Given the description of an element on the screen output the (x, y) to click on. 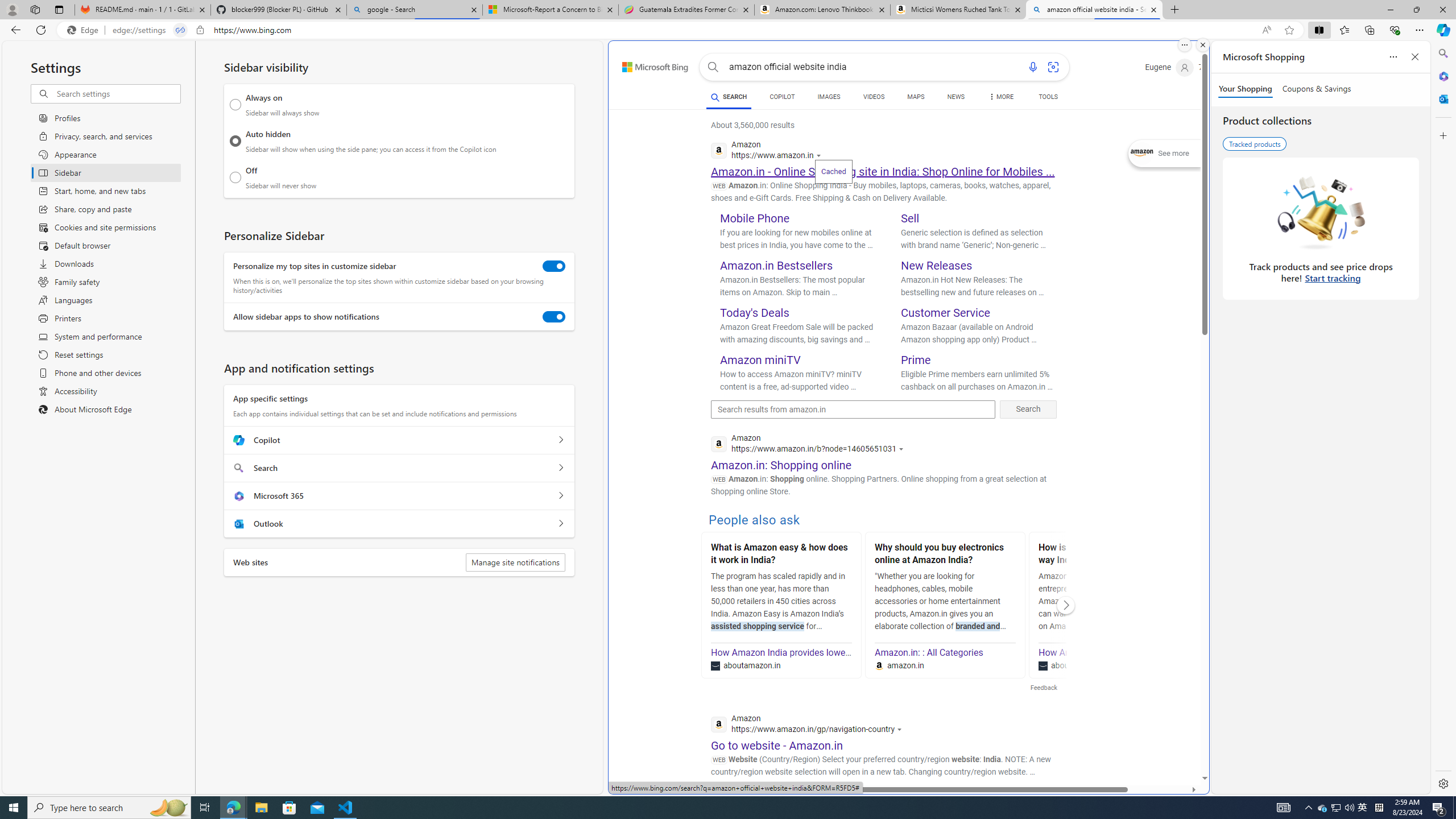
Amazon (830, 805)
Settings (1442, 783)
NEWS (955, 98)
amazon official website india - Search (1094, 9)
TOOLS (1048, 96)
Mobile Phone (755, 218)
Read aloud this page (Ctrl+Shift+U) (1266, 29)
Expand See more (1164, 153)
Close tab (1153, 9)
Close (1442, 9)
Favorites (1344, 29)
More options. (1183, 45)
